Given the description of an element on the screen output the (x, y) to click on. 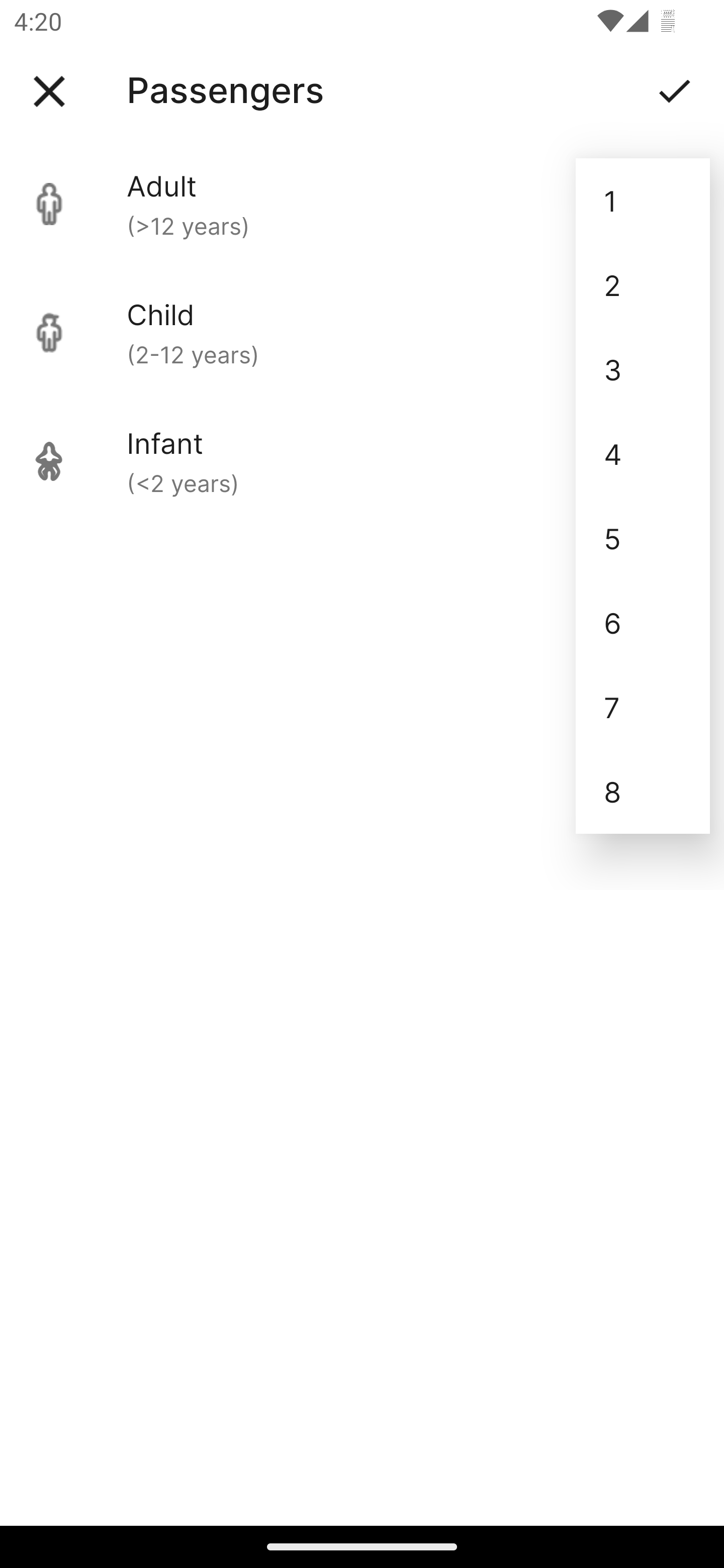
1 (642, 200)
2 (642, 285)
3 (642, 368)
4 (642, 452)
5 (642, 537)
6 (642, 622)
7 (642, 706)
8 (642, 791)
